Given the description of an element on the screen output the (x, y) to click on. 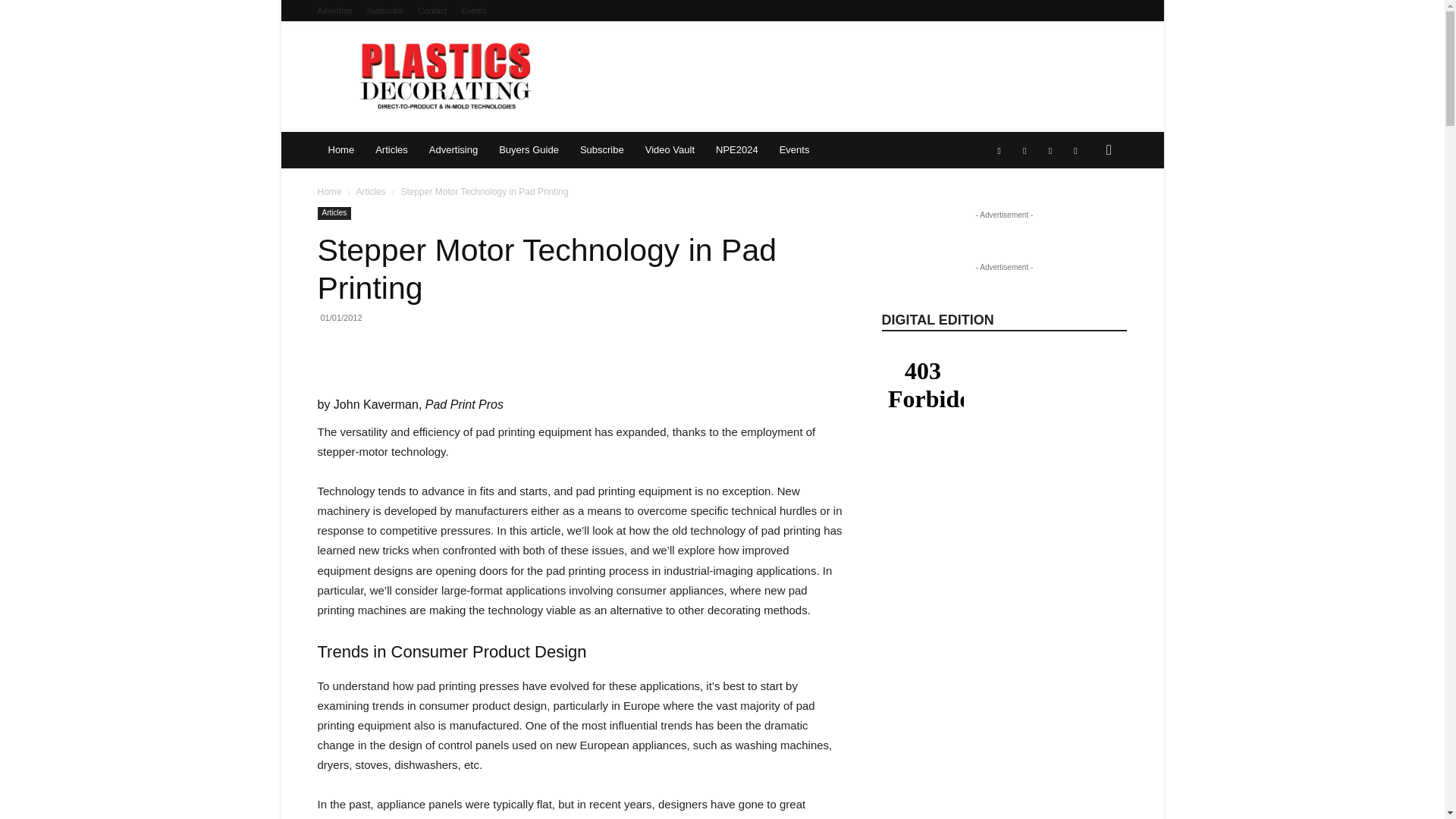
Advertising (453, 149)
View all posts in Articles (370, 191)
Contact (431, 10)
Plastics Decorating Magazine (446, 76)
Subscribe (384, 10)
Events (473, 10)
Home (341, 149)
Articles (392, 149)
Advertise (334, 10)
